Given the description of an element on the screen output the (x, y) to click on. 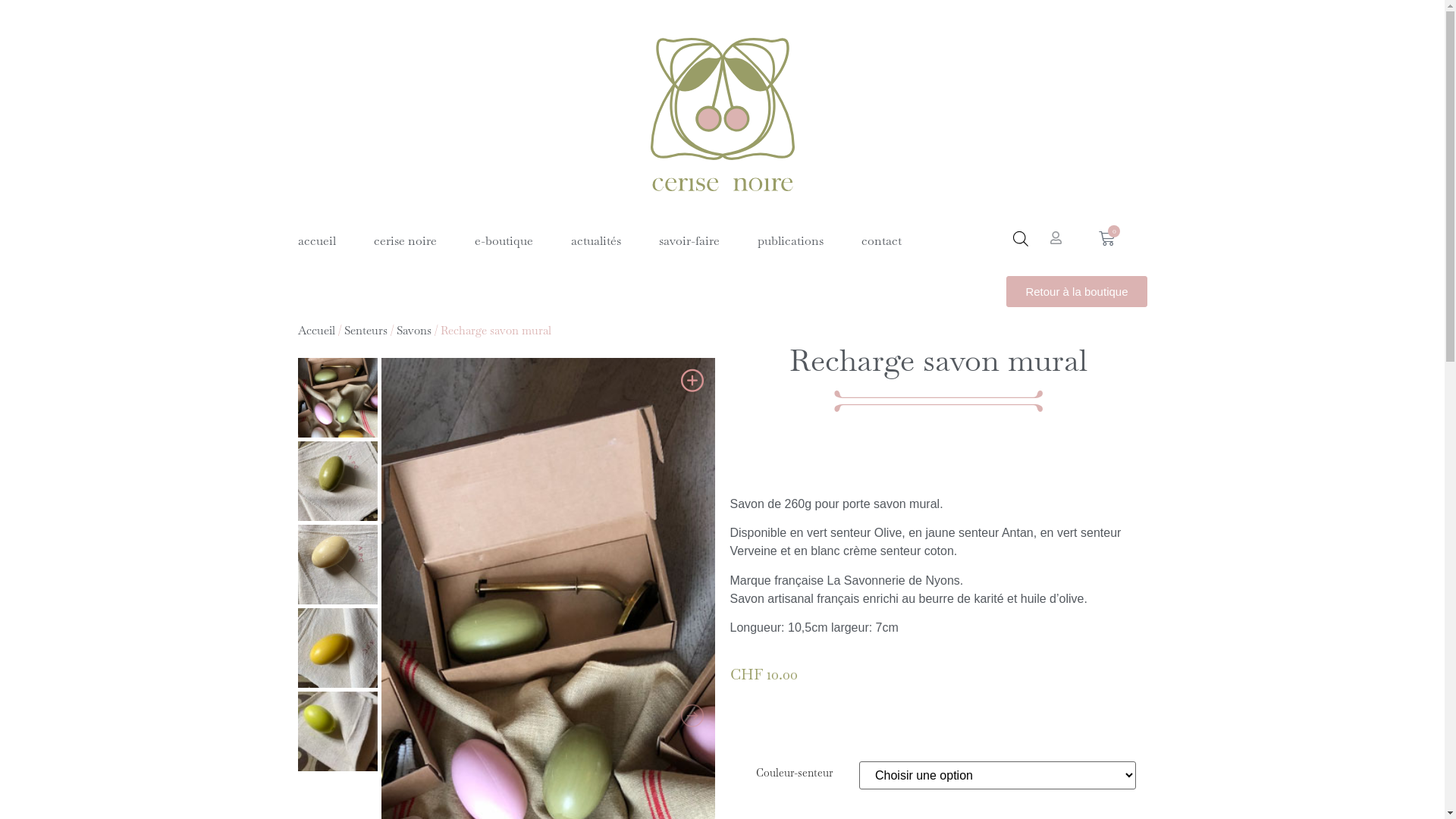
publications Element type: text (789, 240)
e-boutique Element type: text (503, 240)
contact Element type: text (881, 240)
Accueil Element type: text (315, 330)
Recharge savon antan Cerise Noire Element type: hover (336, 647)
accueil Element type: text (316, 240)
recharge savon verveine cerise noire Element type: hover (336, 731)
Senteurs Element type: text (365, 330)
savoir-faire Element type: text (688, 240)
0 Element type: text (1106, 238)
Savons Element type: text (412, 330)
cerise noire Element type: text (404, 240)
